Given the description of an element on the screen output the (x, y) to click on. 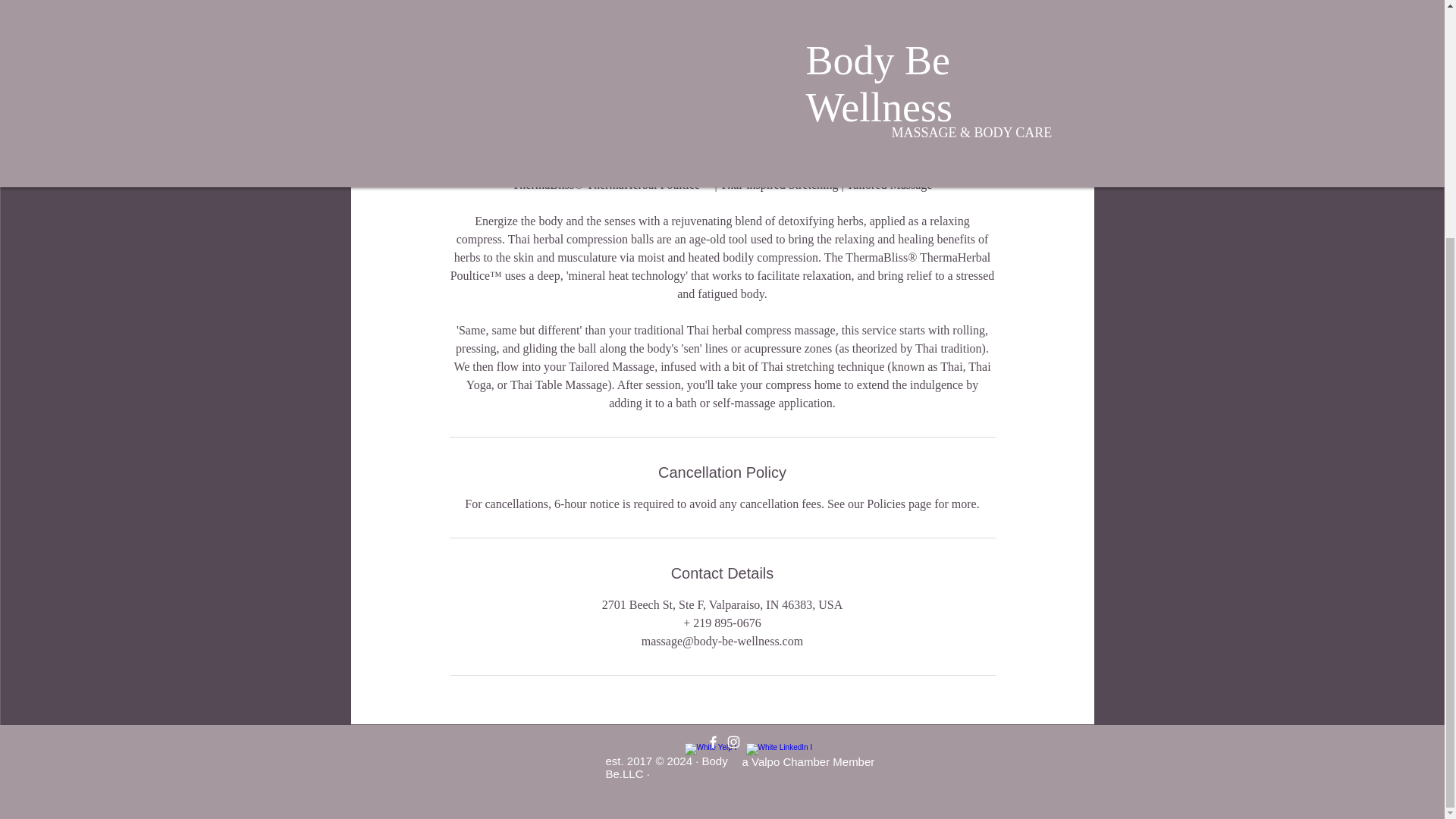
Book Now (721, 78)
a Valpo Chamber Member (808, 761)
